Given the description of an element on the screen output the (x, y) to click on. 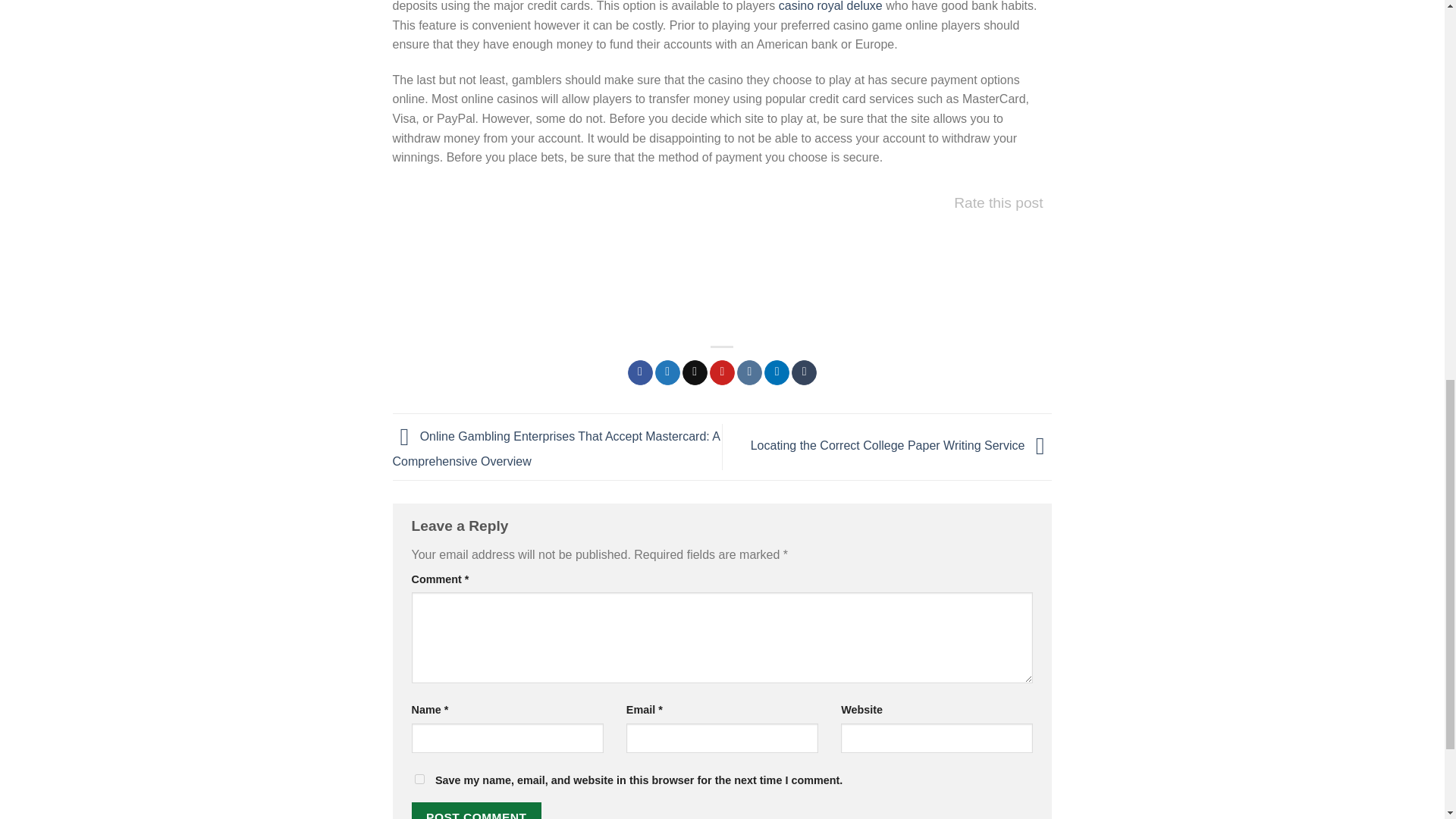
Share on LinkedIn (776, 372)
Share on Facebook (639, 372)
Pin on Pinterest (722, 372)
yes (418, 778)
Share on Tumblr (804, 372)
Share on VKontakte (748, 372)
Post Comment (475, 810)
Share on Twitter (667, 372)
Email to a Friend (694, 372)
